Given the description of an element on the screen output the (x, y) to click on. 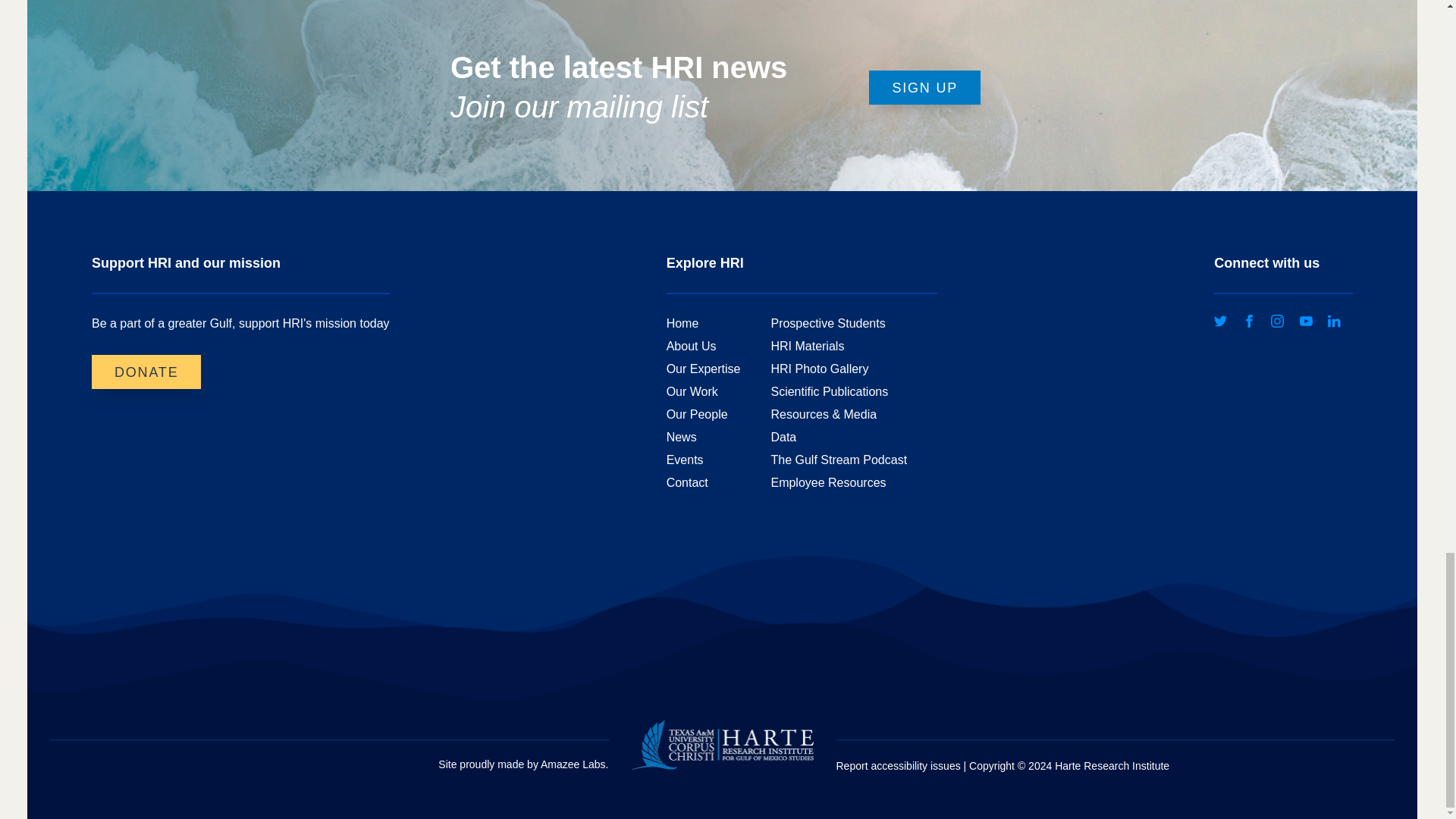
Home (682, 323)
HRI Publication Repository (829, 391)
About Us (691, 345)
DONATE (145, 371)
SIGN UP (924, 87)
